Given the description of an element on the screen output the (x, y) to click on. 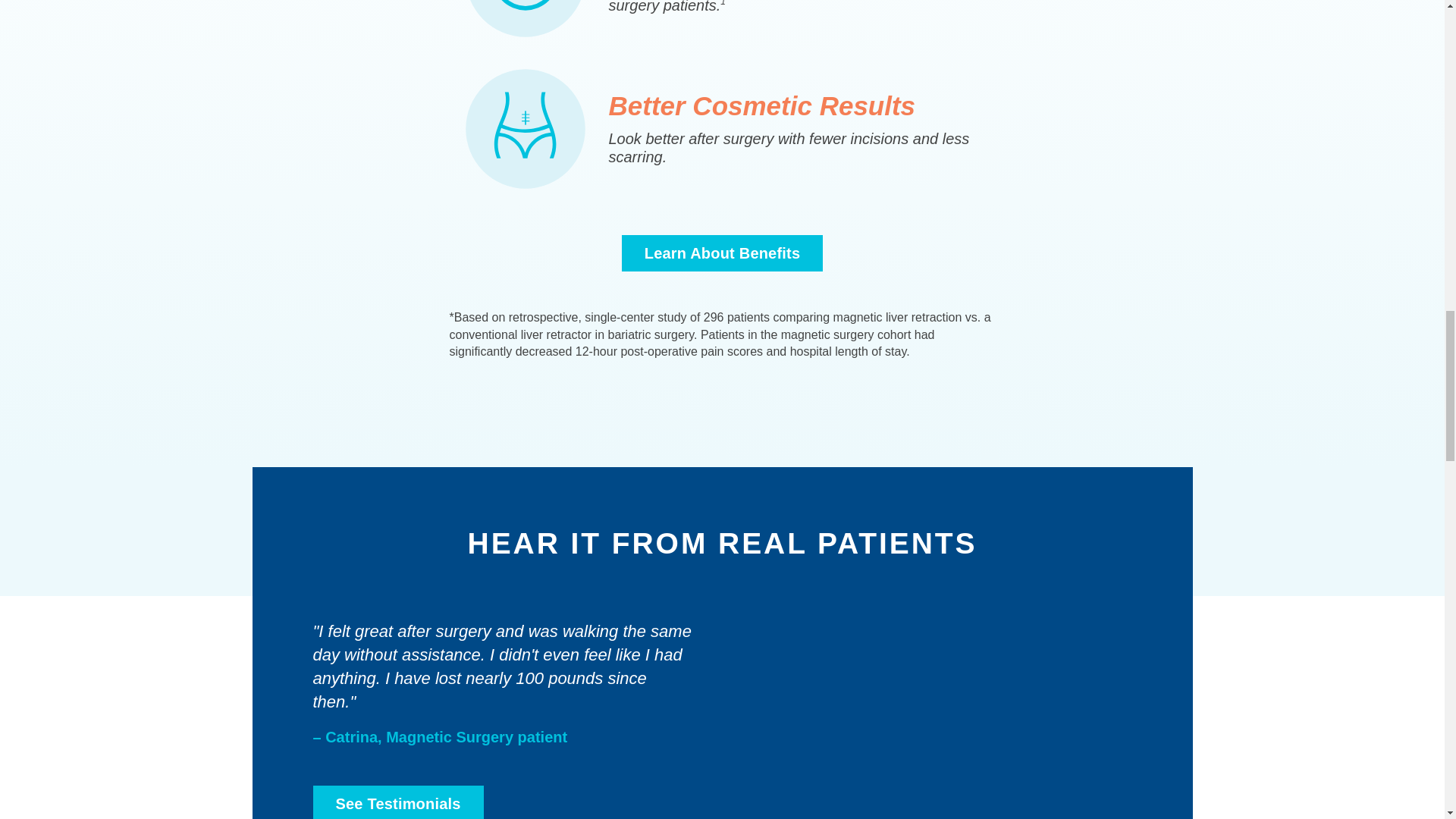
Better Cosmetic Results (761, 105)
See Testimonials (398, 802)
Learn About Benefits (722, 253)
